Given the description of an element on the screen output the (x, y) to click on. 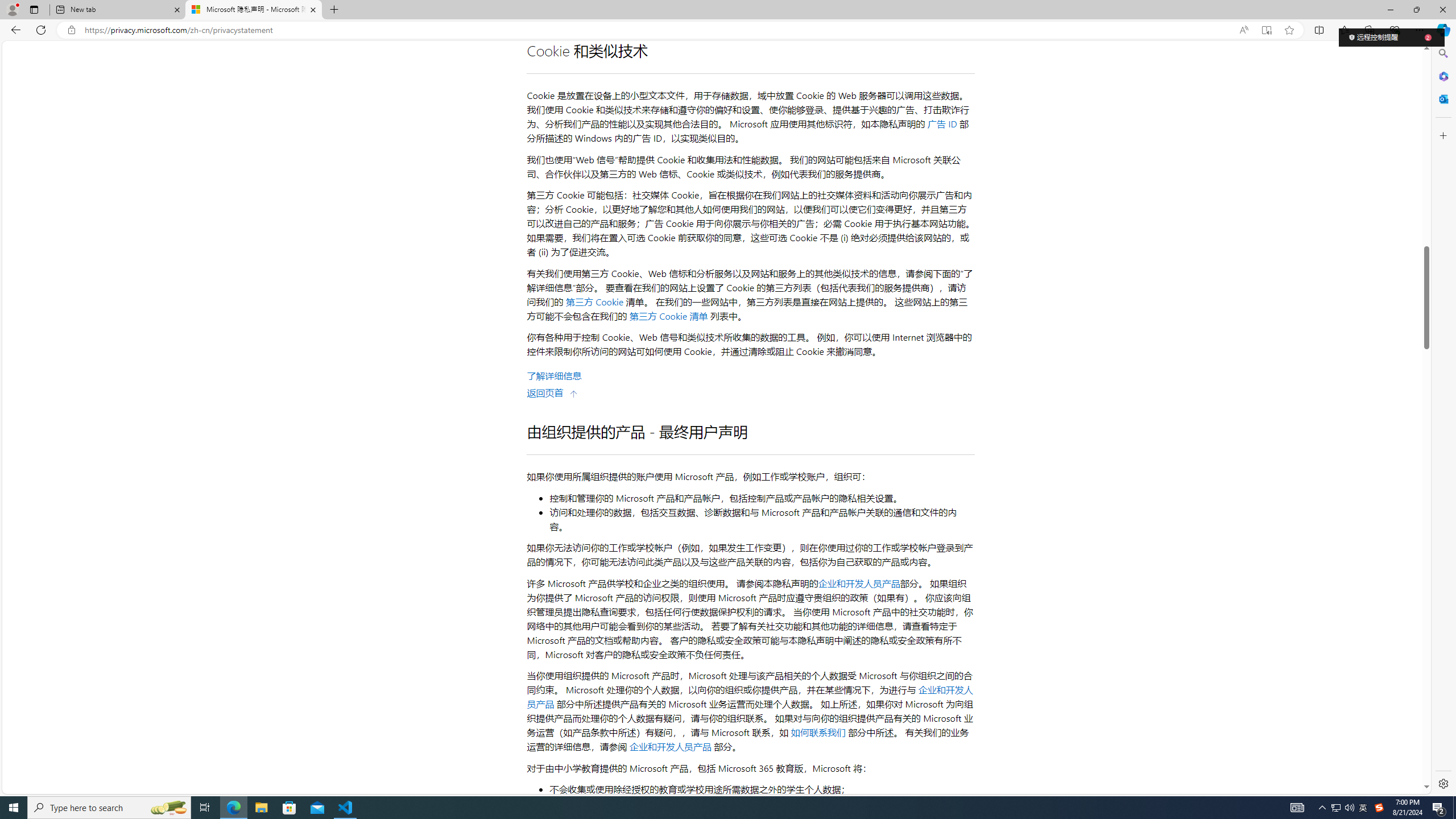
Address and search bar (658, 29)
App bar (728, 29)
